Given the description of an element on the screen output the (x, y) to click on. 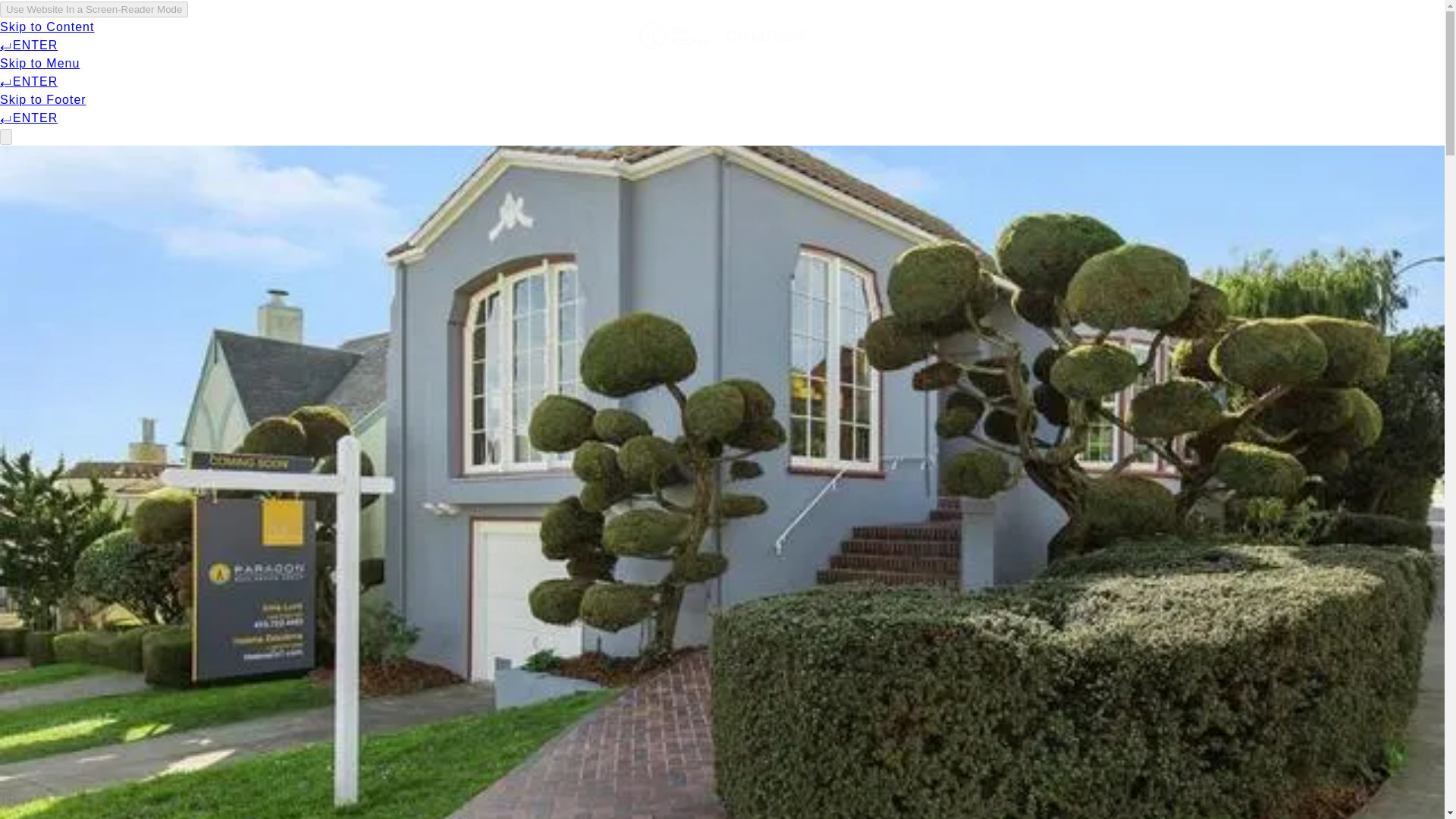
Contact (1132, 35)
Active Listings (386, 35)
Menu (197, 35)
Menu (187, 35)
Home Search (278, 35)
